Given the description of an element on the screen output the (x, y) to click on. 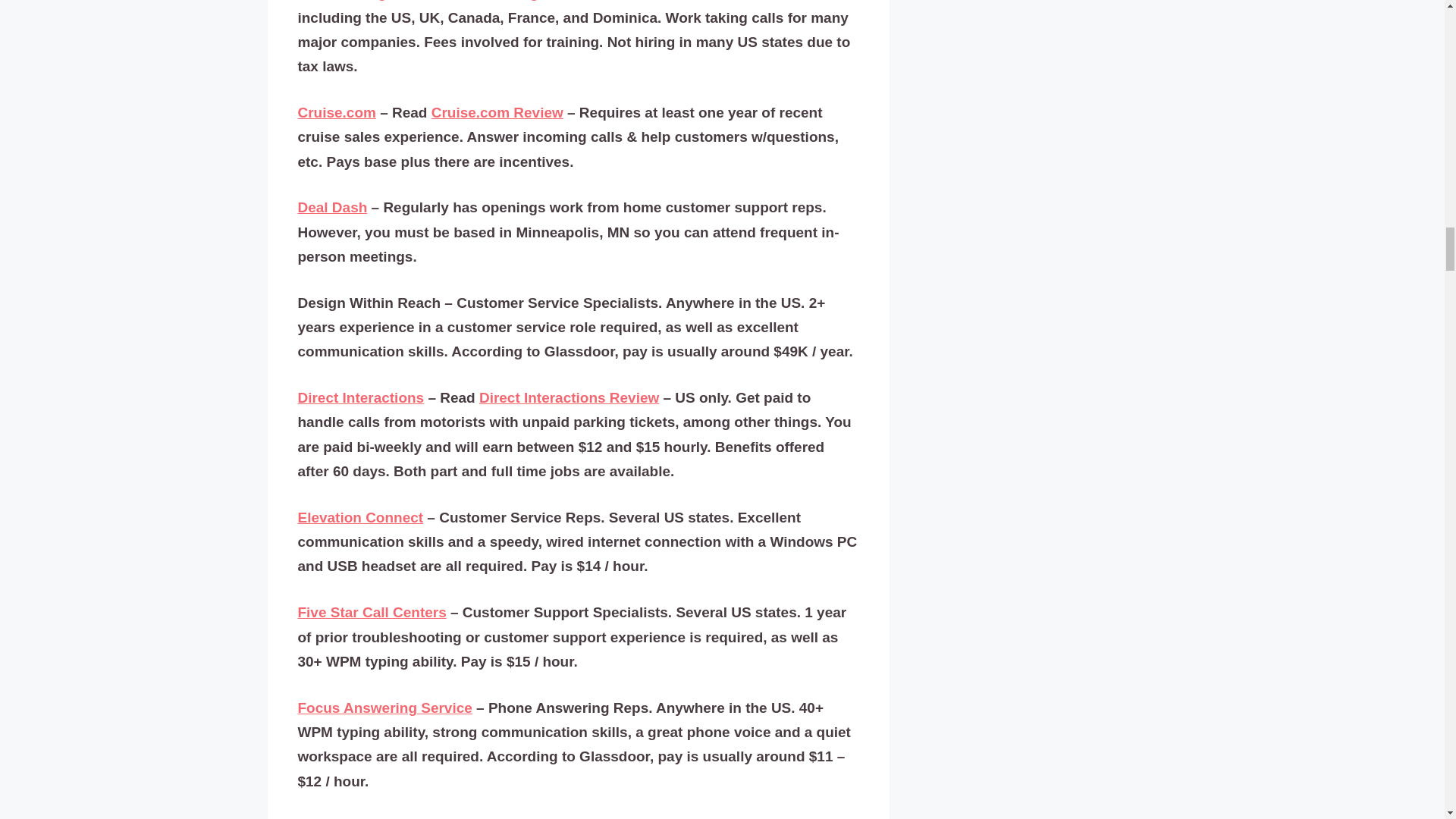
LiveExchange (345, 0)
Work From Home Customer Service For Cruise.com (496, 112)
Taking Calls From Home for Direct Interactions (569, 397)
